Given the description of an element on the screen output the (x, y) to click on. 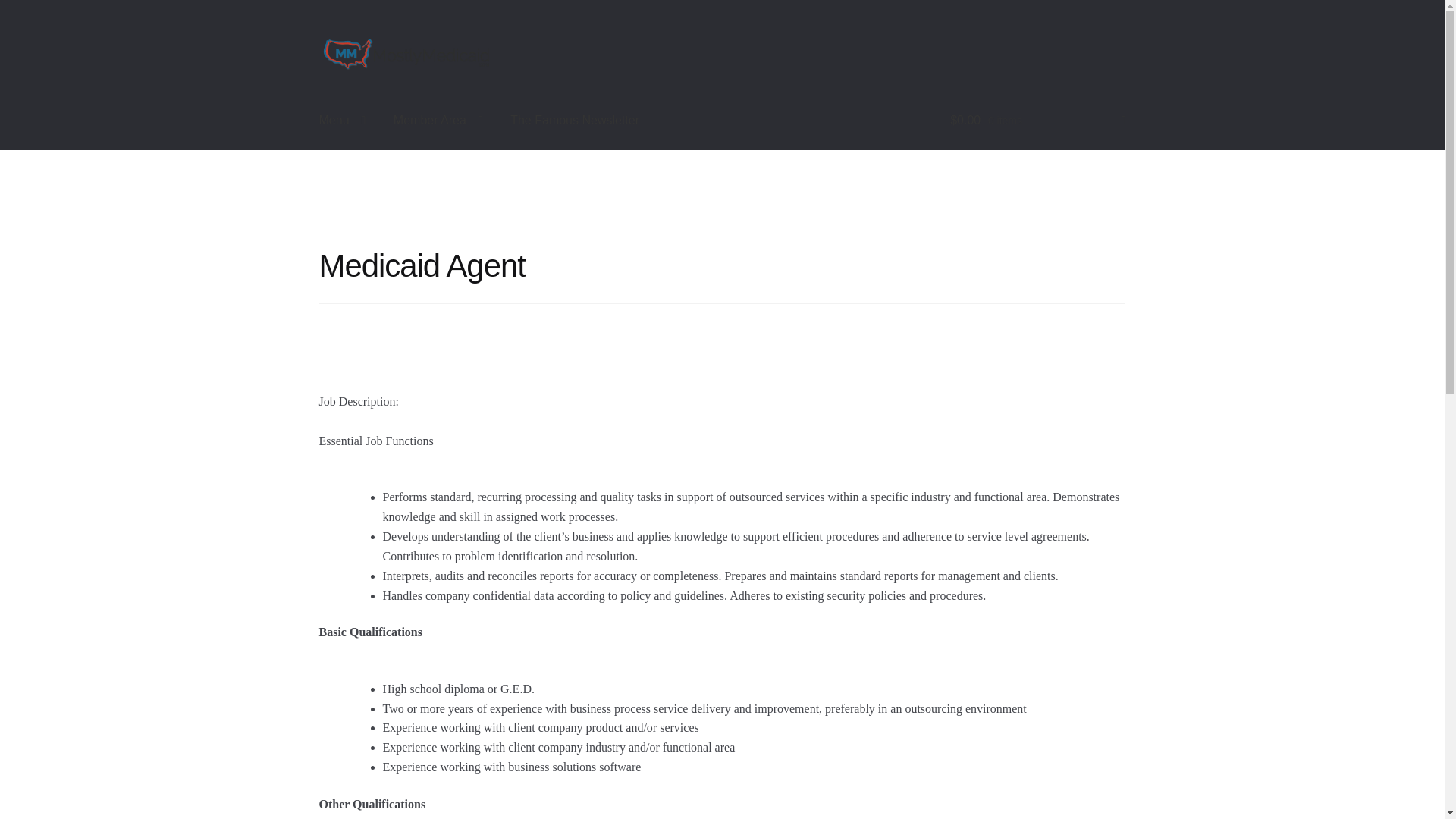
Member Area (438, 119)
View your shopping cart (1037, 119)
Menu (342, 119)
The Famous Newsletter (573, 119)
